Given the description of an element on the screen output the (x, y) to click on. 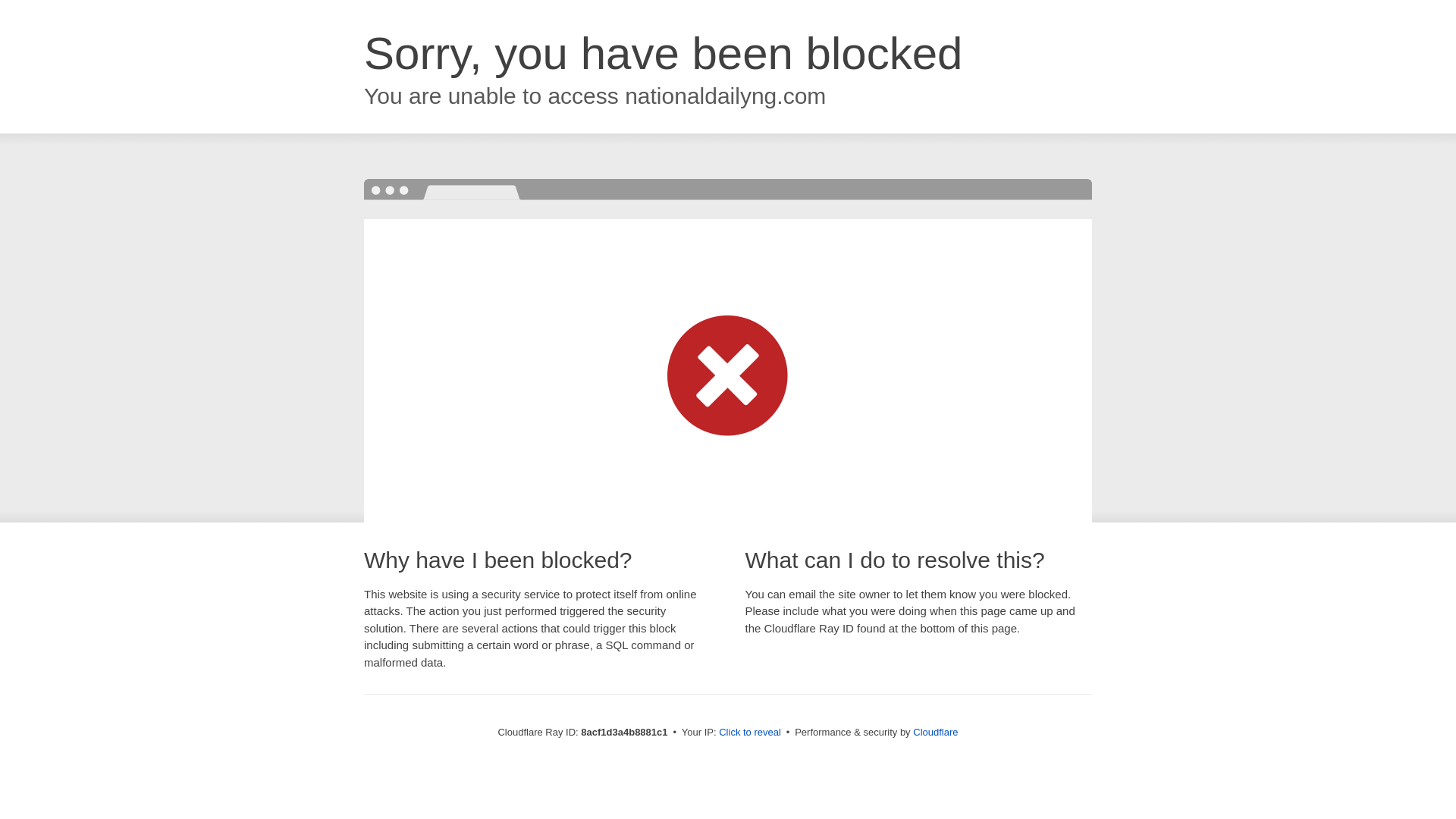
Cloudflare (935, 731)
Click to reveal (749, 732)
